Given the description of an element on the screen output the (x, y) to click on. 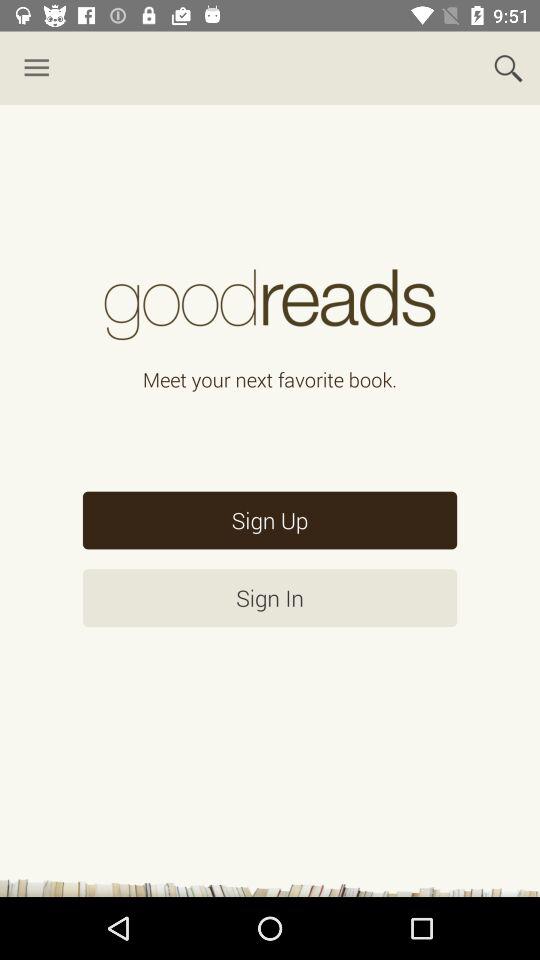
turn on the item above the sign in (269, 520)
